Given the description of an element on the screen output the (x, y) to click on. 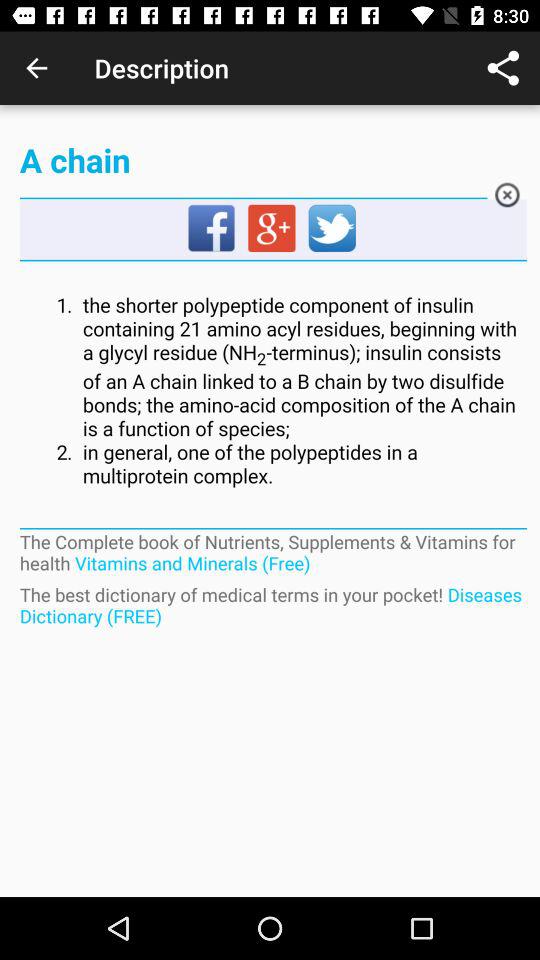
close button (506, 197)
